Given the description of an element on the screen output the (x, y) to click on. 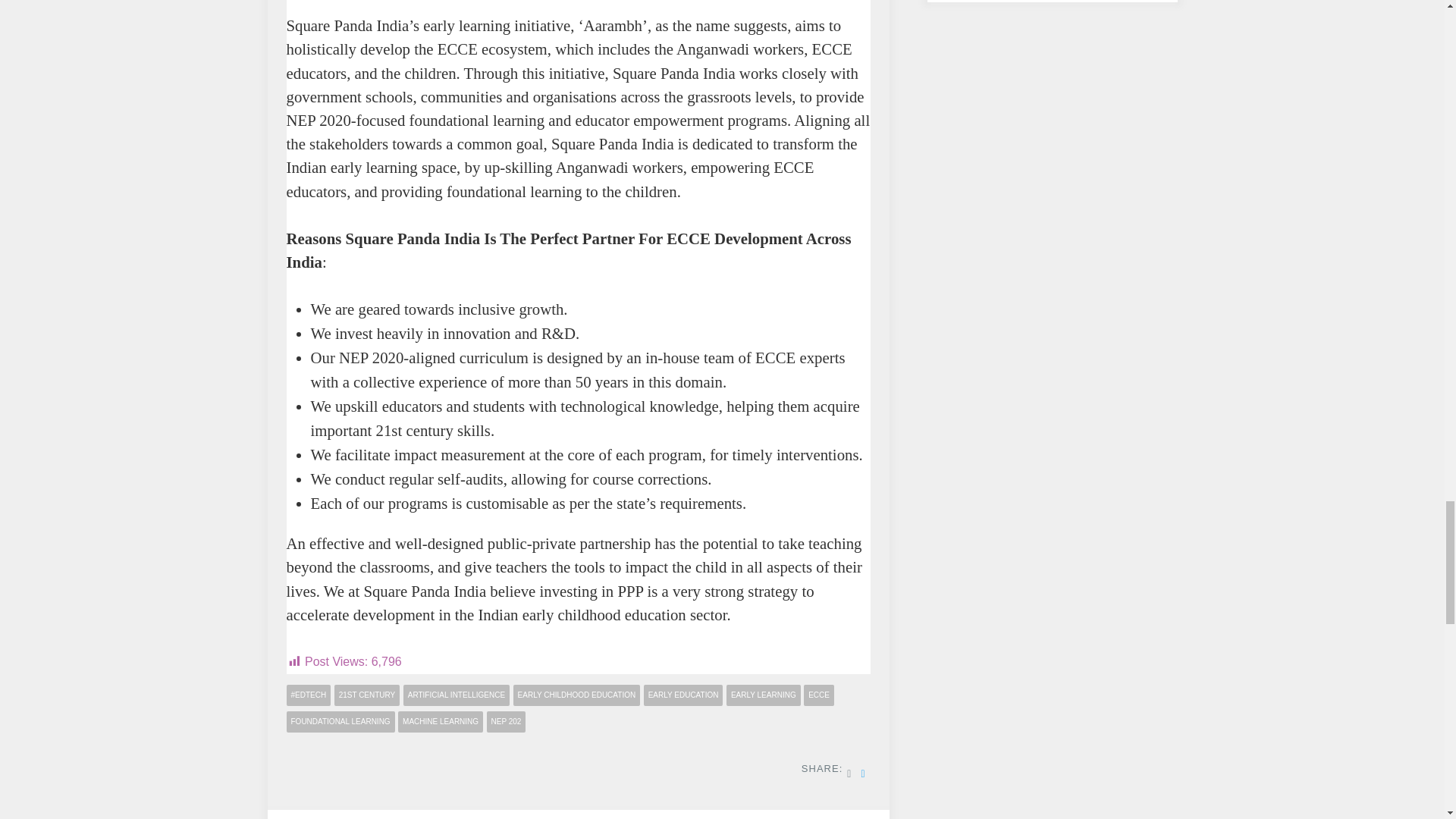
NEP 202 (505, 721)
EARLY LEARNING (763, 694)
FOUNDATIONAL LEARNING (340, 721)
EARLY EDUCATION (683, 694)
MACHINE LEARNING (440, 721)
EARLY CHILDHOOD EDUCATION (576, 694)
21ST CENTURY (367, 694)
ECCE (818, 694)
ARTIFICIAL INTELLIGENCE (456, 694)
